Given the description of an element on the screen output the (x, y) to click on. 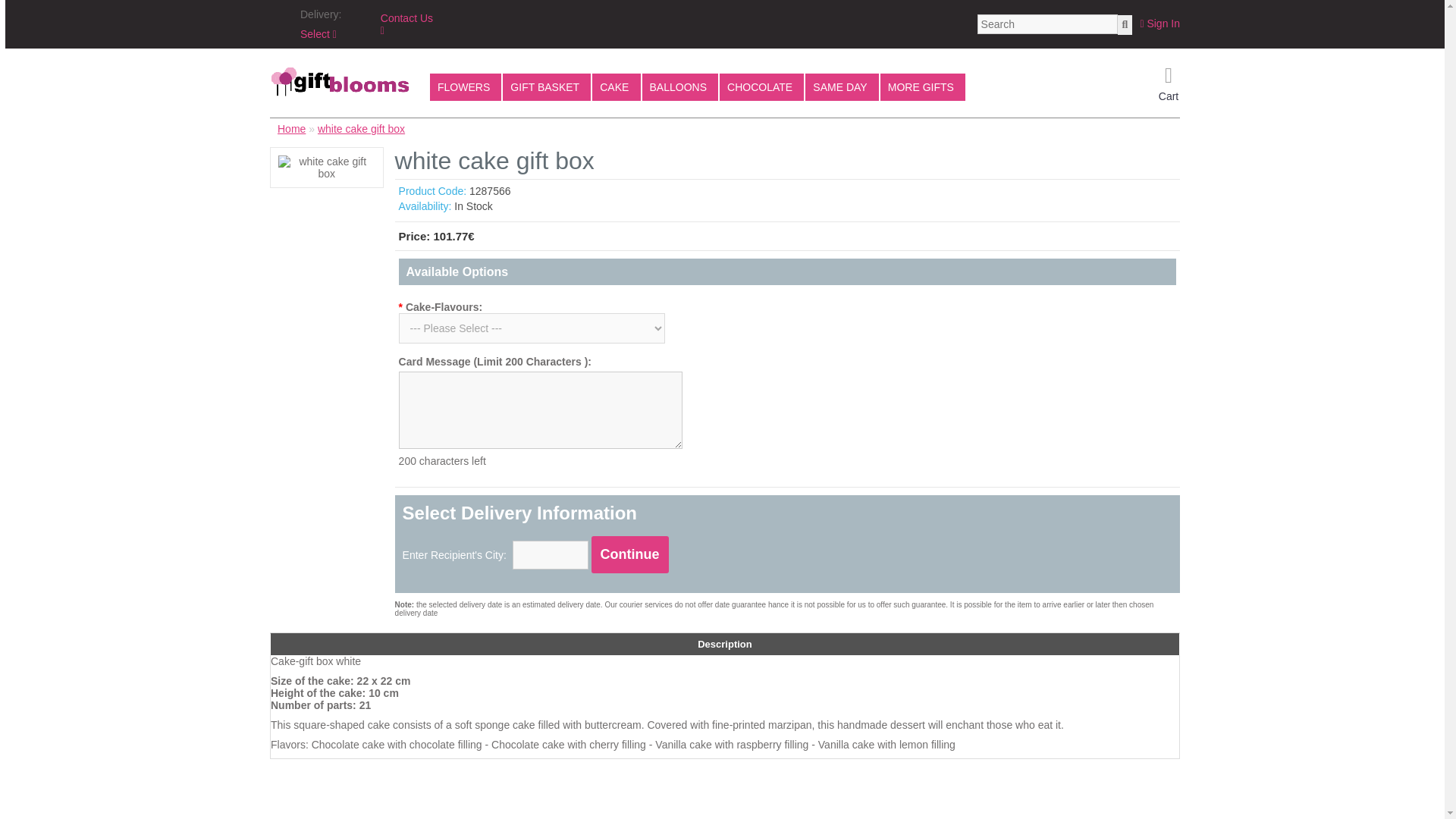
Select (317, 33)
Sign In (1159, 23)
GIFT BASKET (546, 85)
Contact Us (406, 24)
FLOWERS (464, 85)
GiftBlooms.com (339, 81)
